Given the description of an element on the screen output the (x, y) to click on. 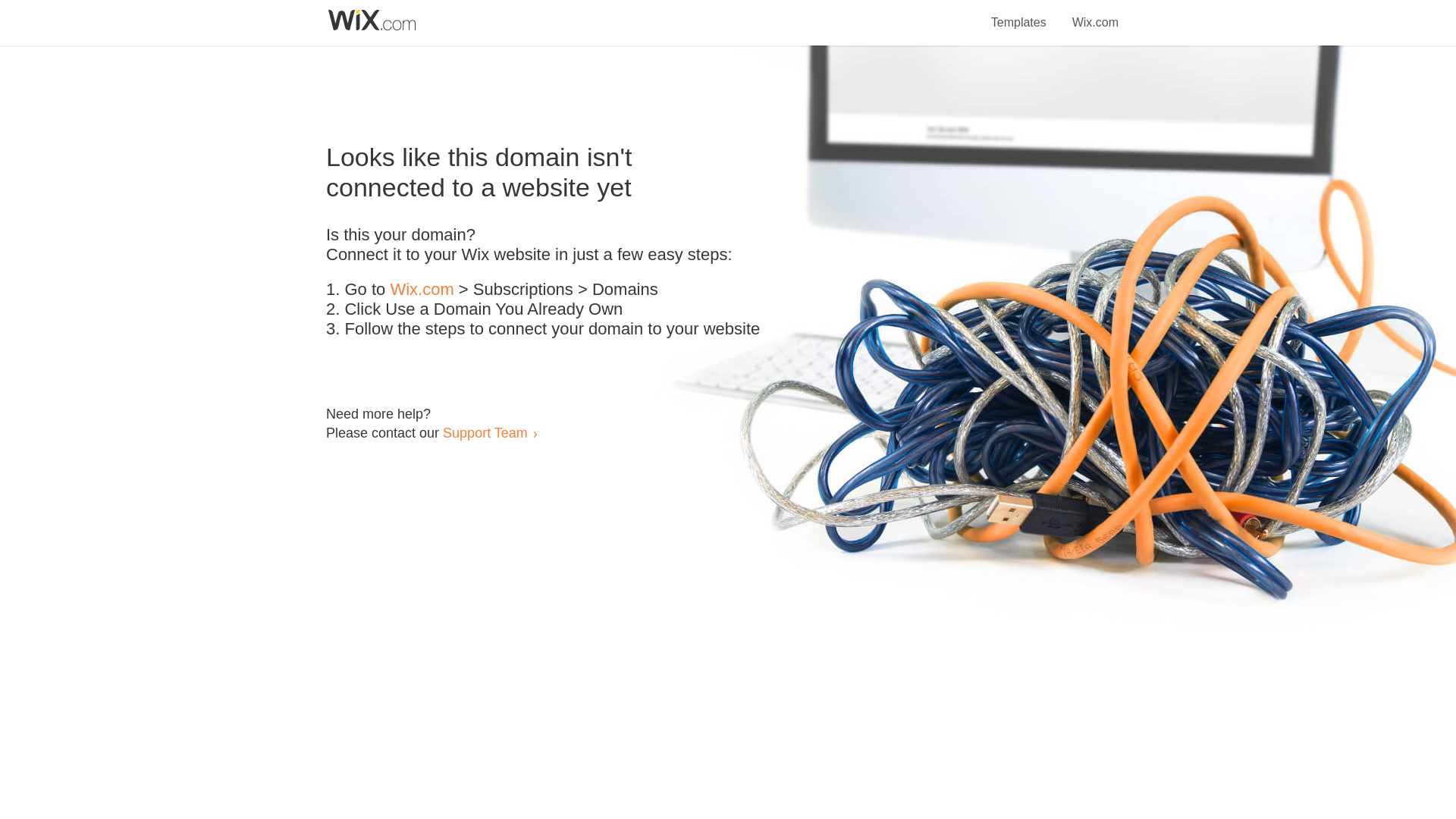
Wix.com (421, 289)
Templates (1018, 14)
Wix.com (1095, 14)
Support Team (484, 432)
